Given the description of an element on the screen output the (x, y) to click on. 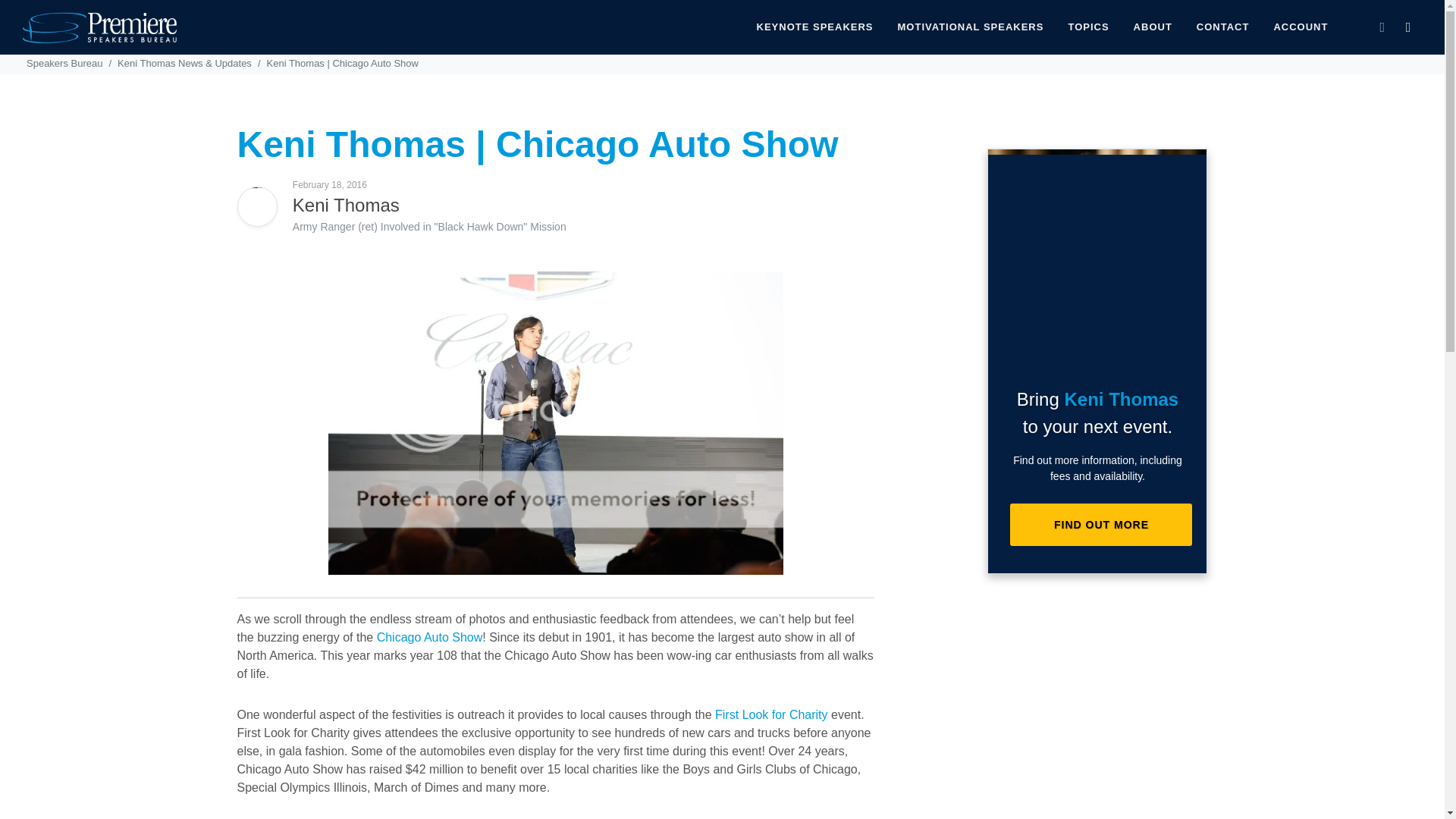
ACCOUNT (1300, 27)
Chicago Auto Show (430, 636)
KEYNOTE SPEAKERS (815, 27)
ABOUT (1152, 27)
Speakers Bureau (63, 62)
MOTIVATIONAL SPEAKERS (970, 27)
TOPICS (1088, 27)
CONTACT (1222, 27)
